Given the description of an element on the screen output the (x, y) to click on. 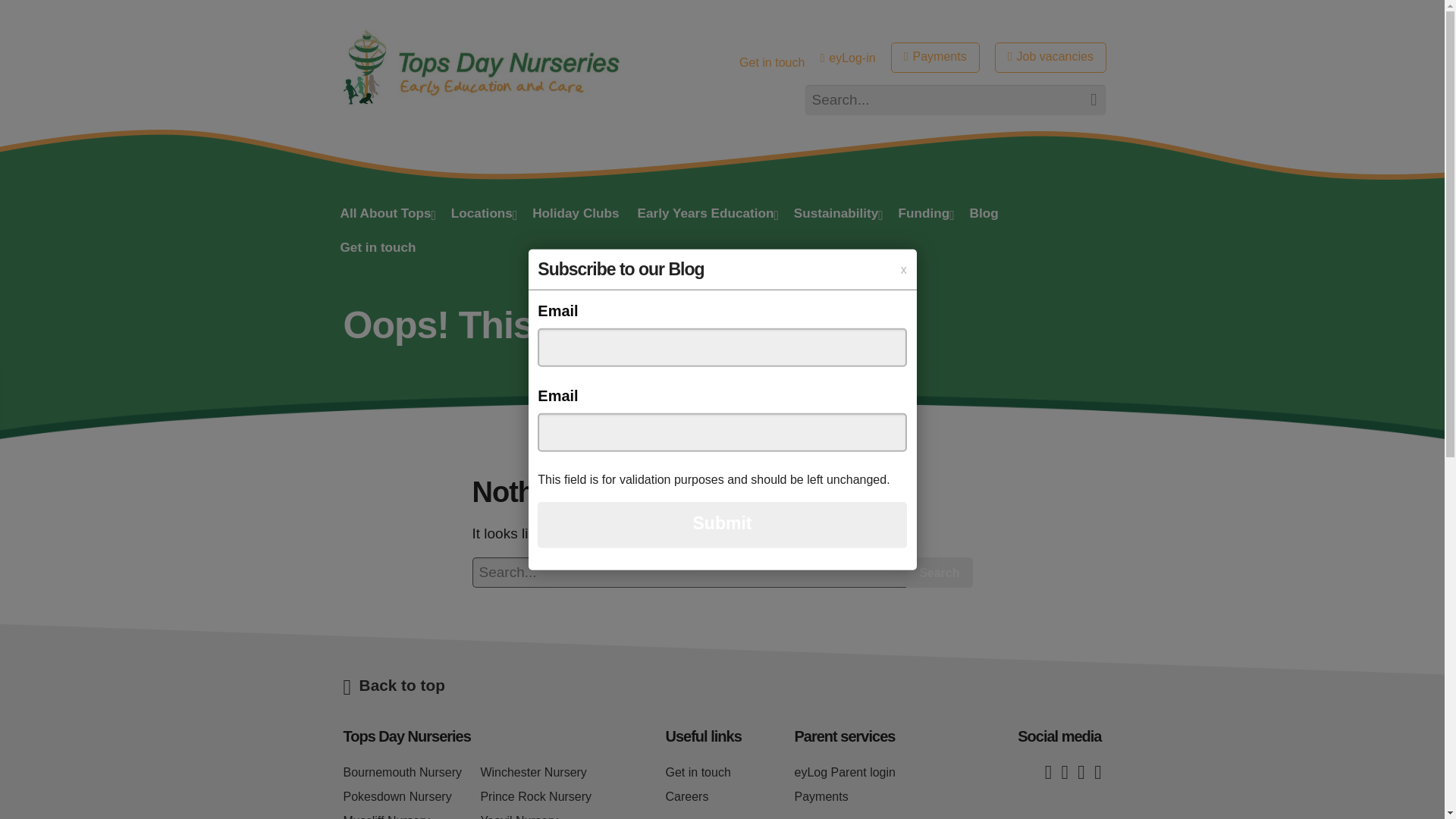
Job vacancies (1050, 57)
Submit (721, 524)
Search (1085, 100)
Get in touch (772, 62)
Search (938, 572)
Search (938, 572)
All About Tops (385, 214)
Search (1085, 100)
Payments (935, 57)
eyLog-in (848, 57)
Search (1085, 100)
Locations (482, 214)
